Given the description of an element on the screen output the (x, y) to click on. 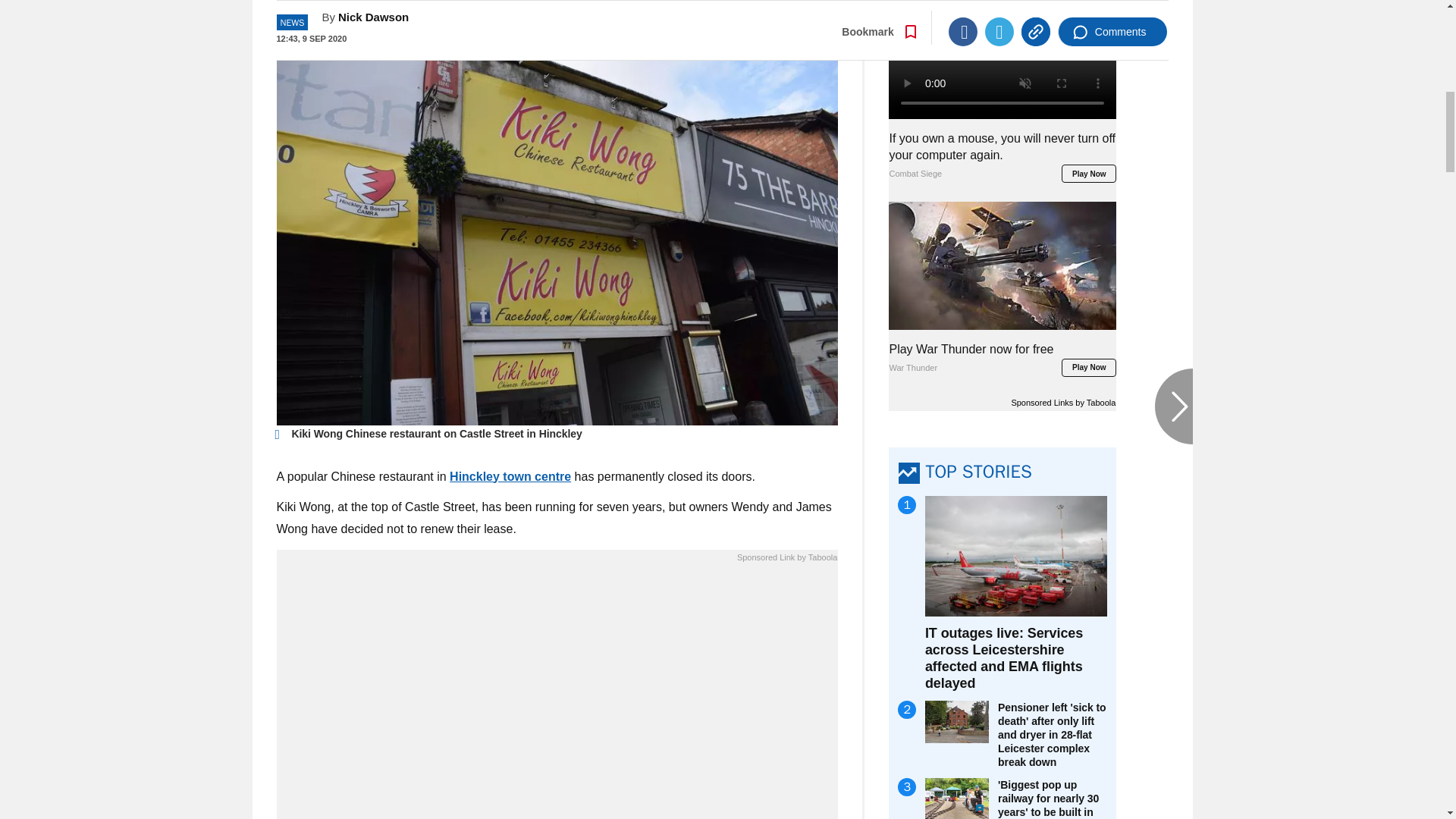
Go (730, 17)
